Given the description of an element on the screen output the (x, y) to click on. 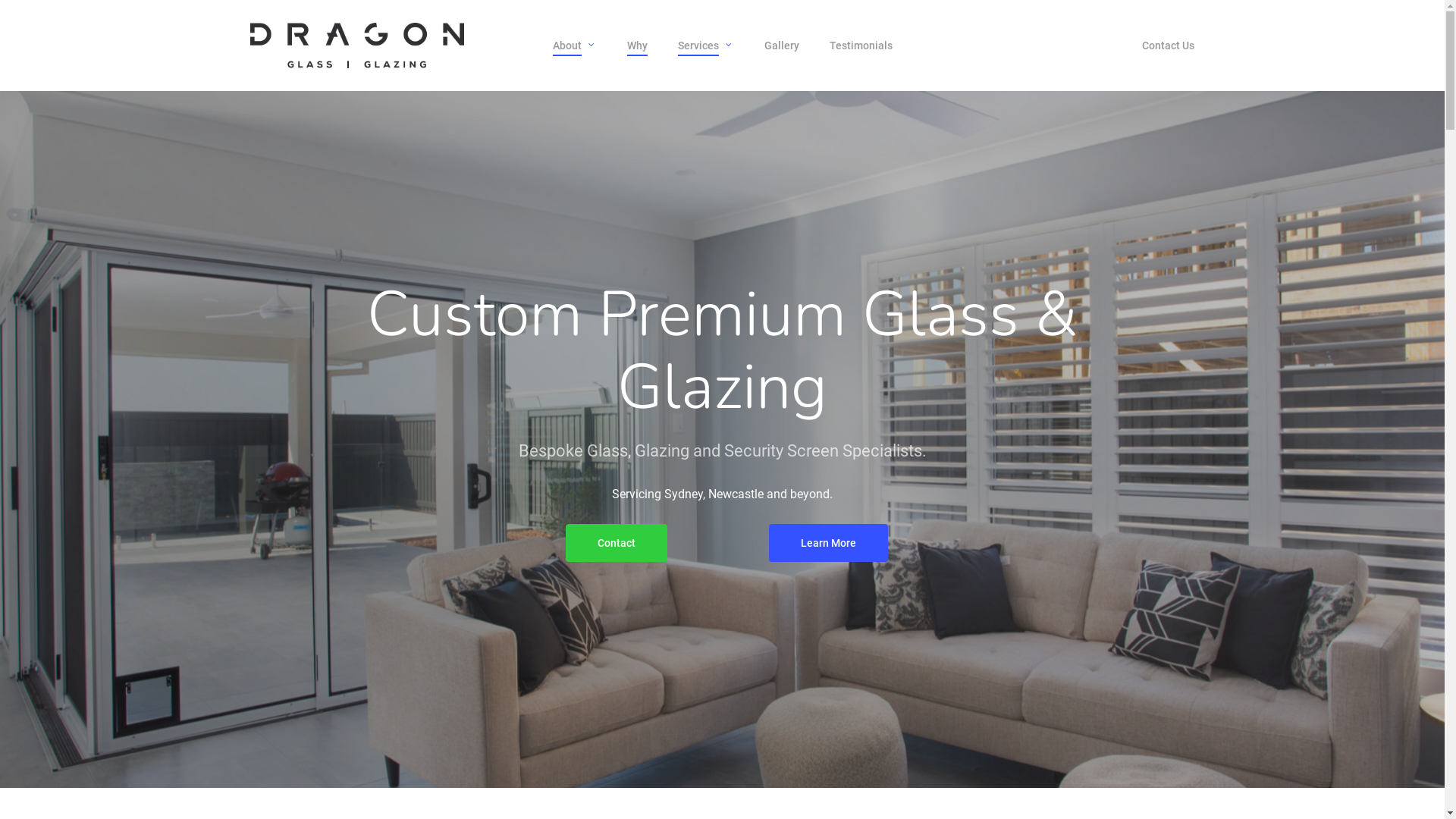
About Element type: text (574, 45)
Testimonials Element type: text (860, 45)
Learn More Element type: text (828, 542)
Gallery Element type: text (781, 45)
Contact Us Element type: text (1168, 45)
Why Element type: text (636, 45)
Contact Element type: text (616, 542)
Services Element type: text (705, 45)
